Given the description of an element on the screen output the (x, y) to click on. 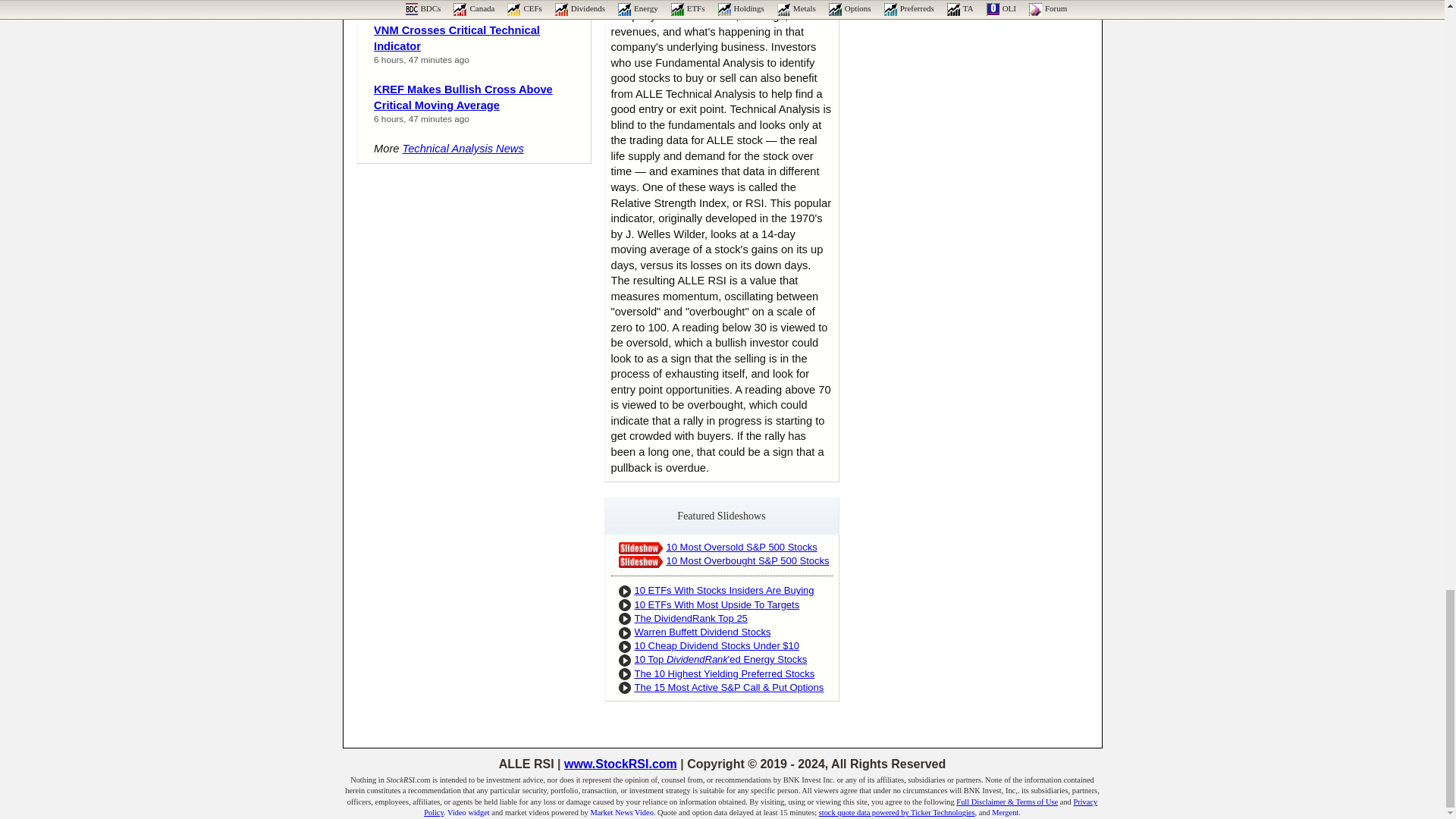
Technical Analysis News (463, 148)
KREF Makes Bullish Cross Above Critical Moving Average (463, 97)
VNM Crosses Critical Technical Indicator (457, 38)
